Given the description of an element on the screen output the (x, y) to click on. 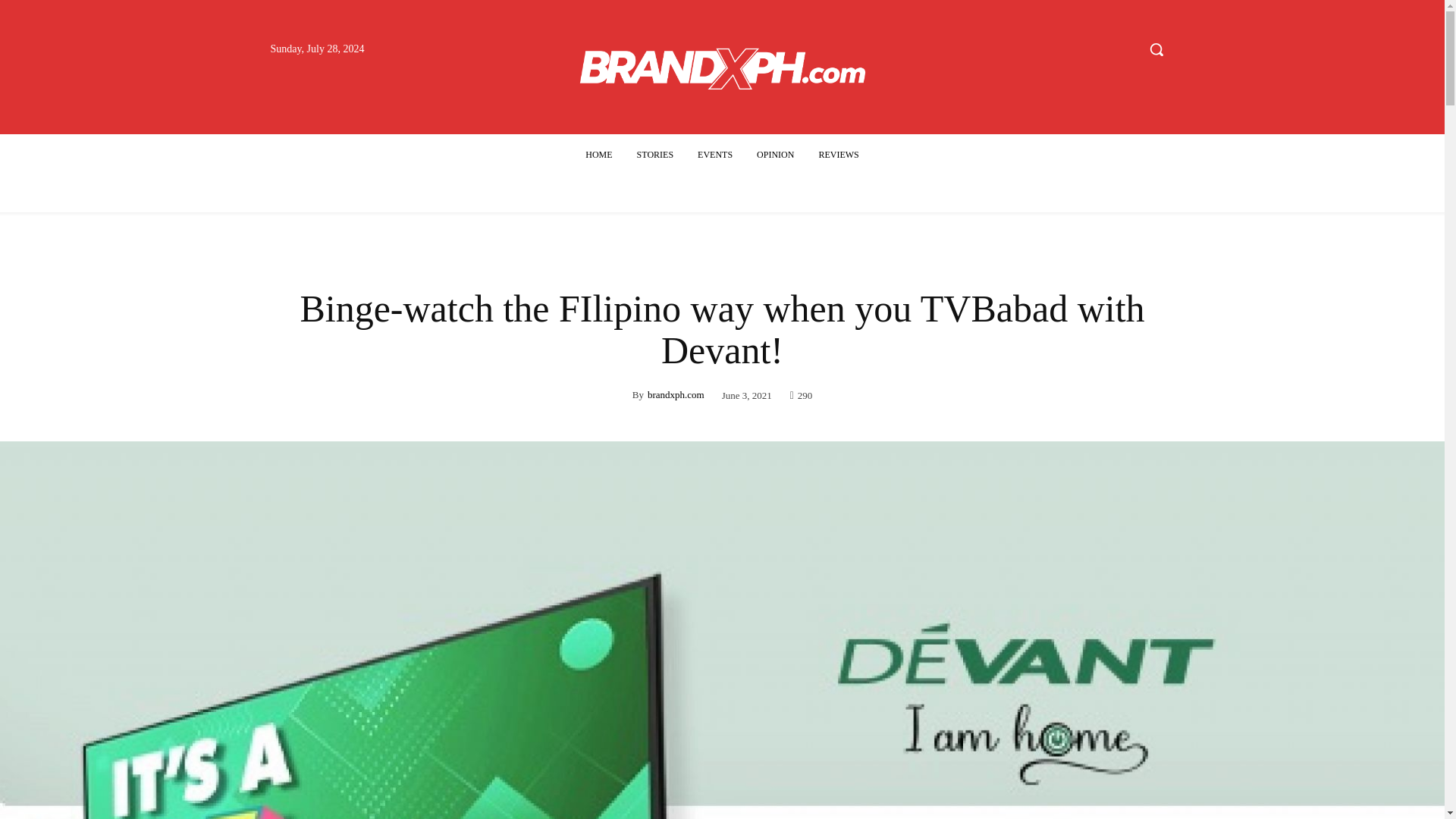
EVENTS (714, 155)
OPINION (775, 155)
HOME (598, 155)
STORIES (654, 155)
REVIEWS (838, 155)
brandxph.com (675, 394)
